Given the description of an element on the screen output the (x, y) to click on. 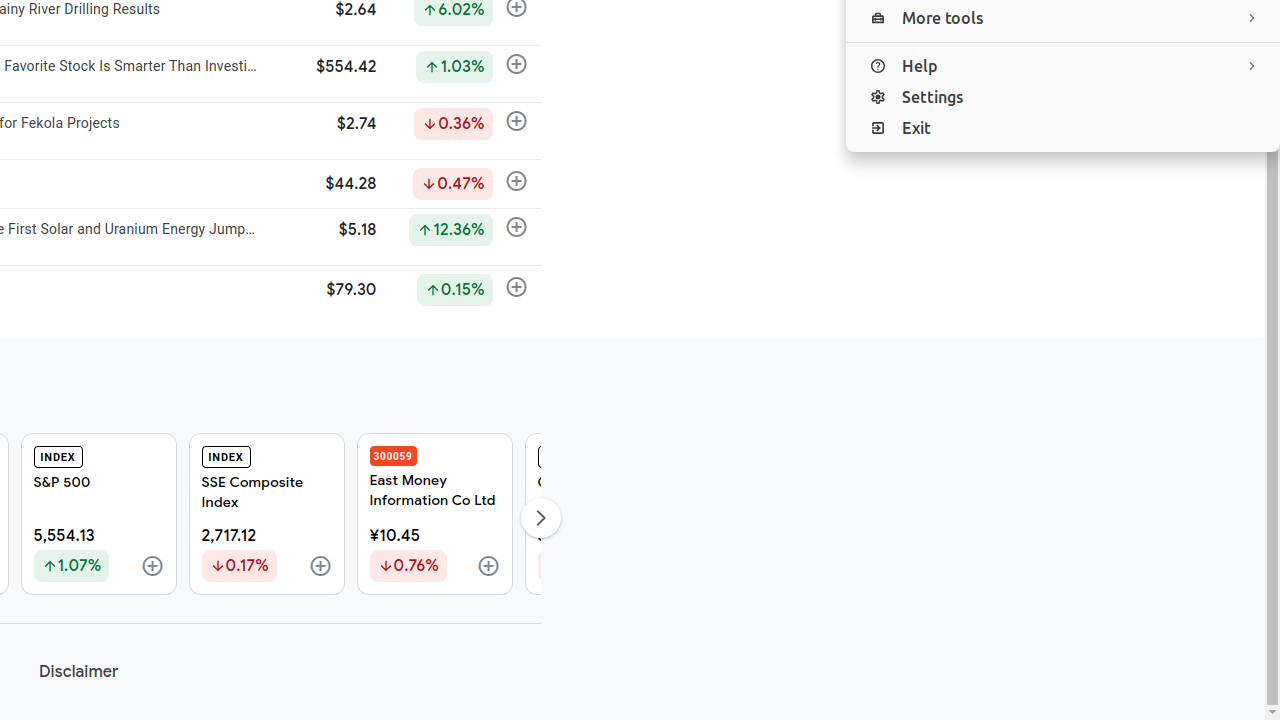
More tools Element type: menu-item (1063, 18)
Help Element type: menu-item (1063, 66)
Exit Element type: menu-item (1063, 128)
Settings Element type: menu-item (1063, 97)
